Given the description of an element on the screen output the (x, y) to click on. 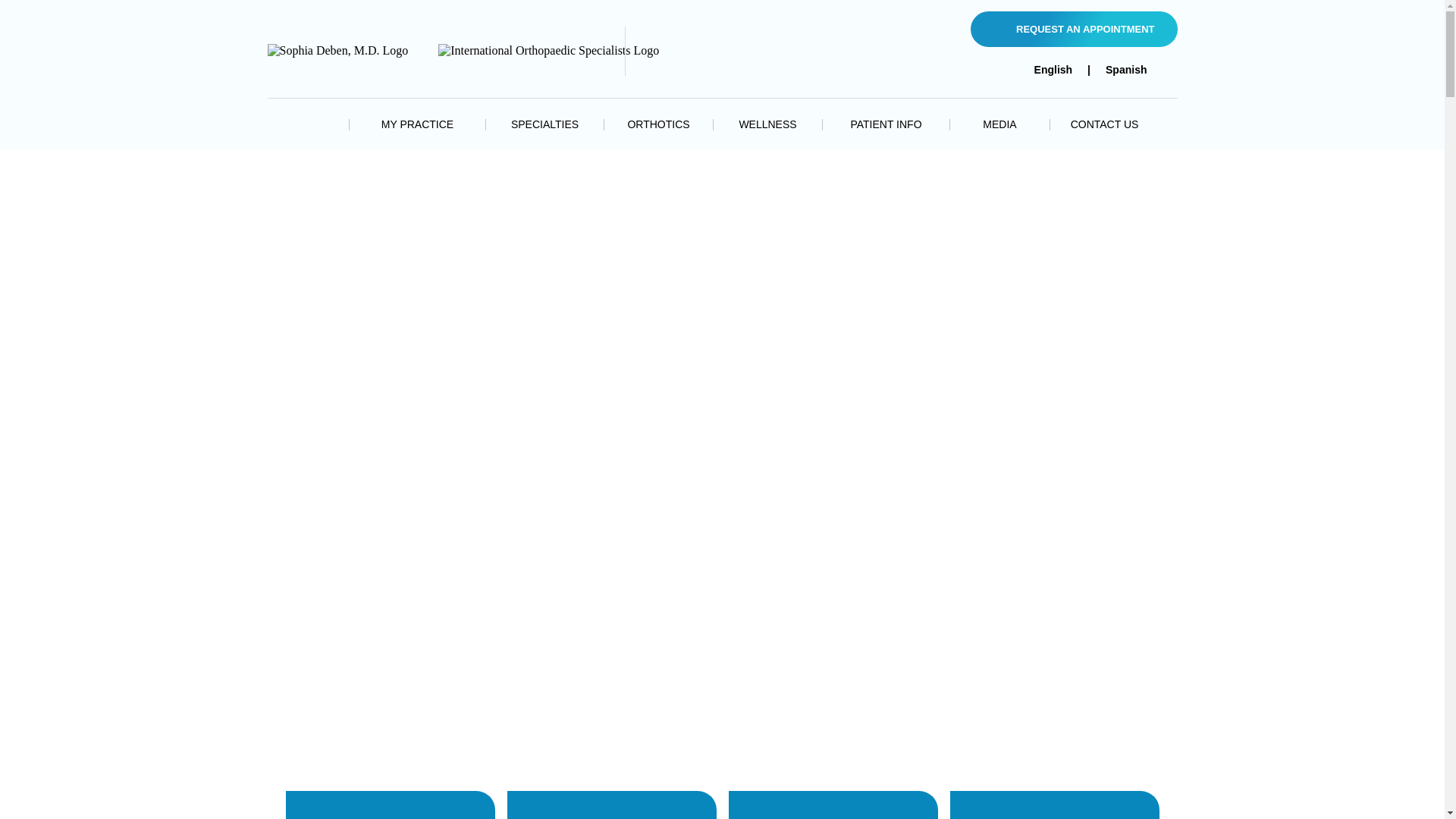
HOME (317, 124)
WELLNESS (767, 124)
Spanish (1125, 69)
MEDIA (999, 124)
REQUEST AN APPOINTMENT (1074, 28)
SPECIALTIES (544, 124)
English (1053, 69)
PATIENT INFO (885, 124)
MY PRACTICE (416, 124)
ORTHOTICS (658, 124)
